Given the description of an element on the screen output the (x, y) to click on. 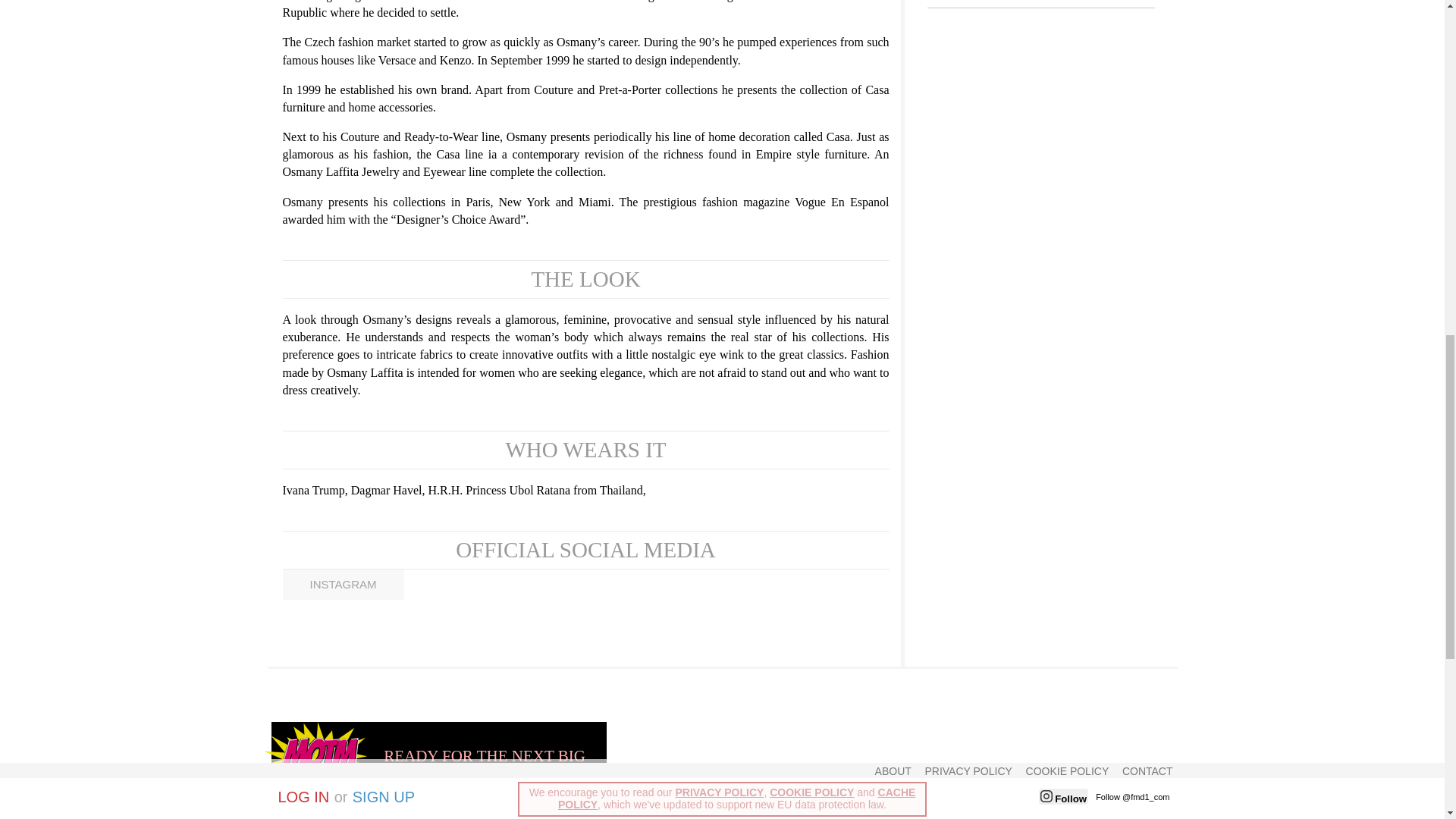
3rd party ad content (897, 755)
